Given the description of an element on the screen output the (x, y) to click on. 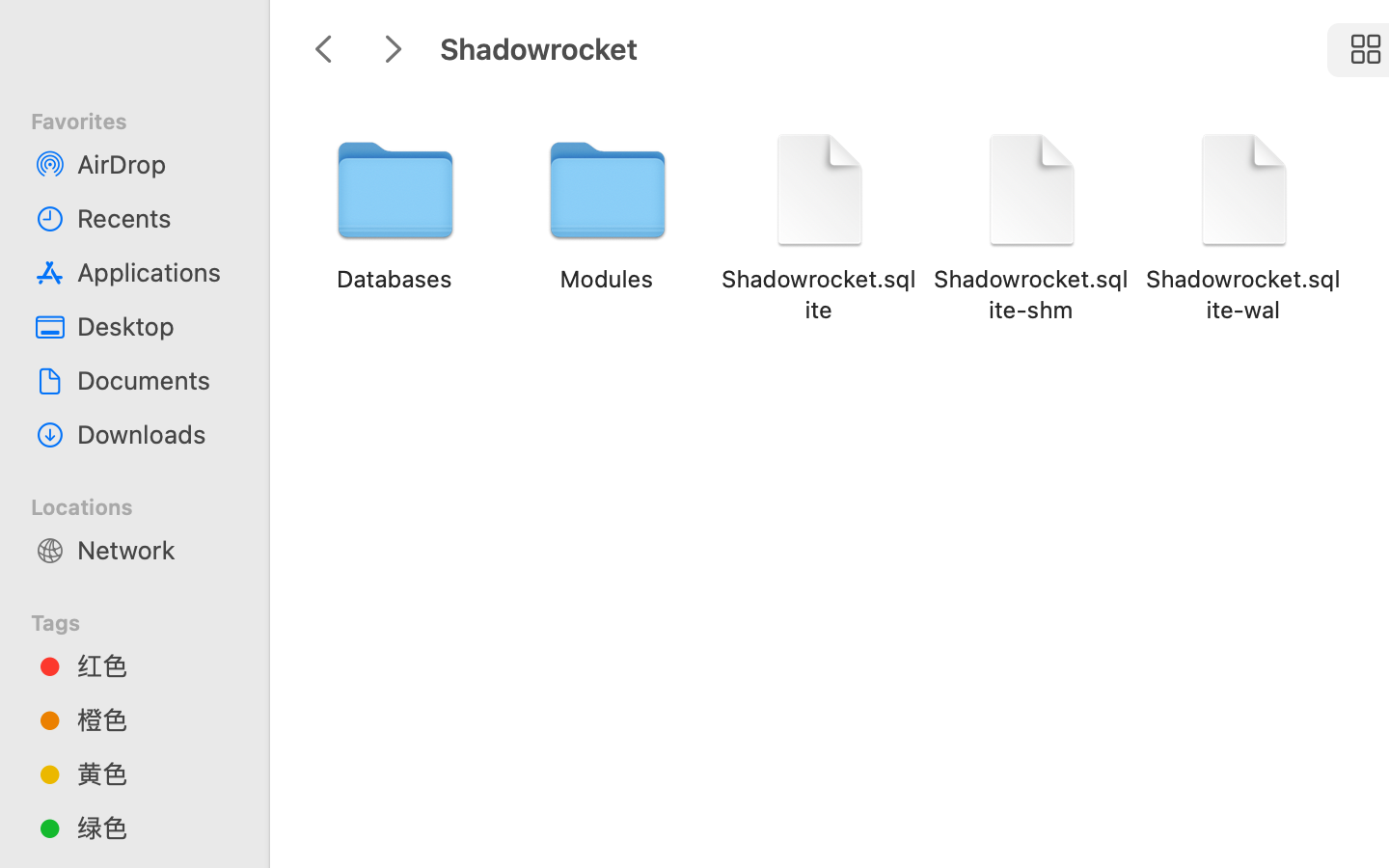
黄色 Element type: AXStaticText (155, 773)
红色 Element type: AXStaticText (155, 665)
Downloads Element type: AXStaticText (155, 433)
Favorites Element type: AXStaticText (145, 118)
